Given the description of an element on the screen output the (x, y) to click on. 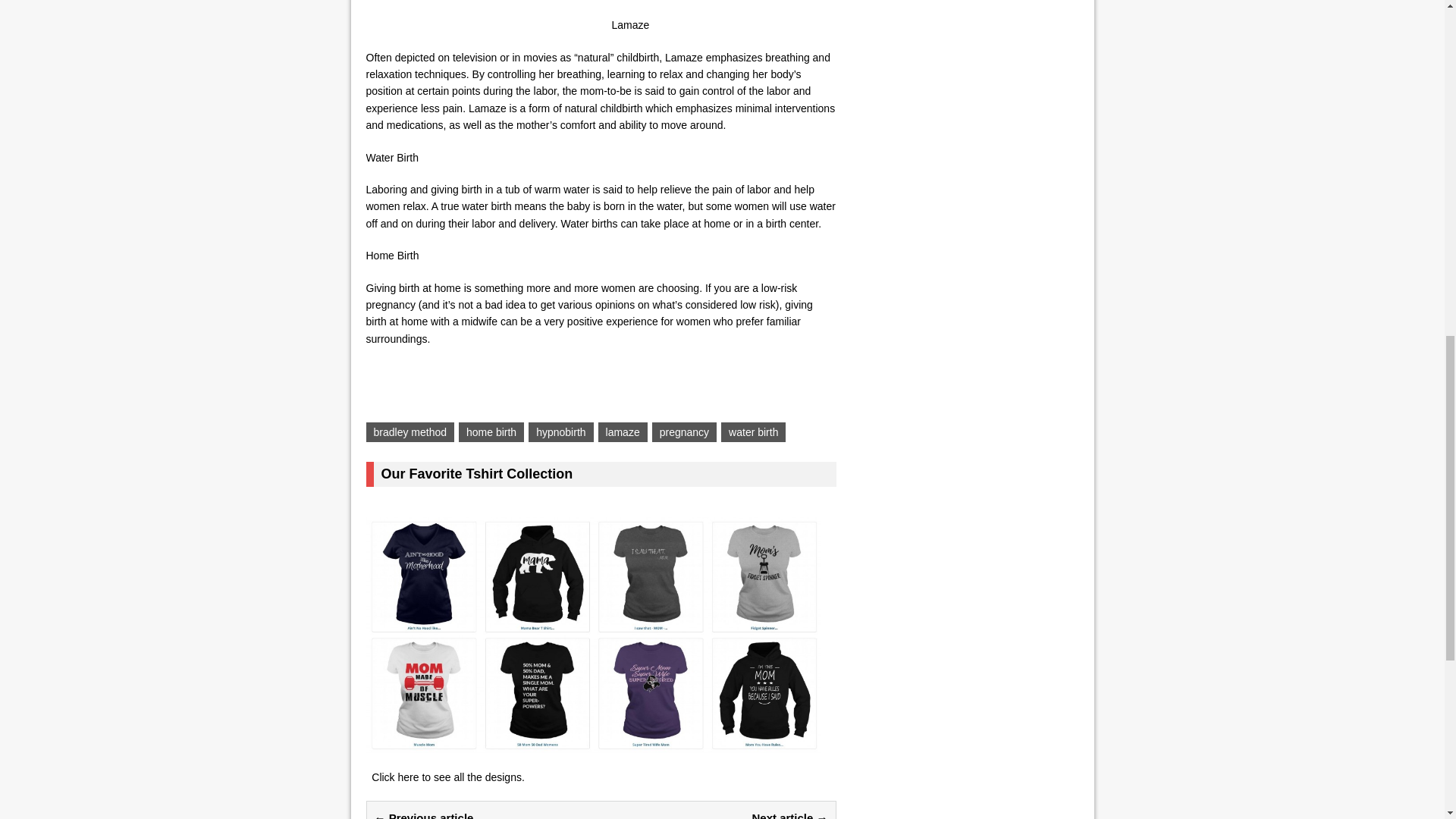
water birth (753, 432)
home birth (491, 432)
bradley method (409, 432)
Click here to see all the designs (446, 776)
lamaze (622, 432)
hypnobirth (560, 432)
pregnancy (684, 432)
